Given the description of an element on the screen output the (x, y) to click on. 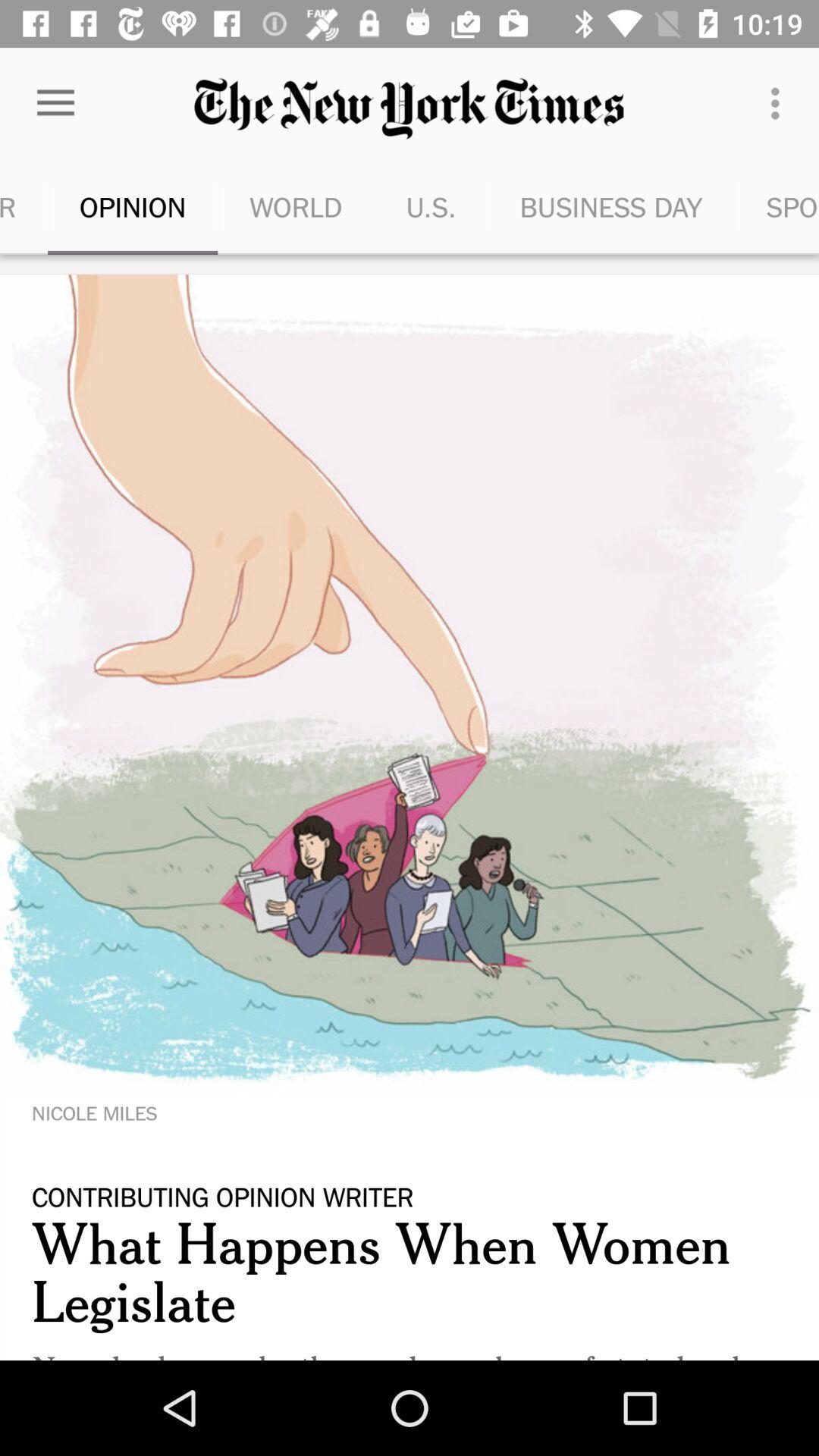
select the item to the left of opinion (23, 206)
